Given the description of an element on the screen output the (x, y) to click on. 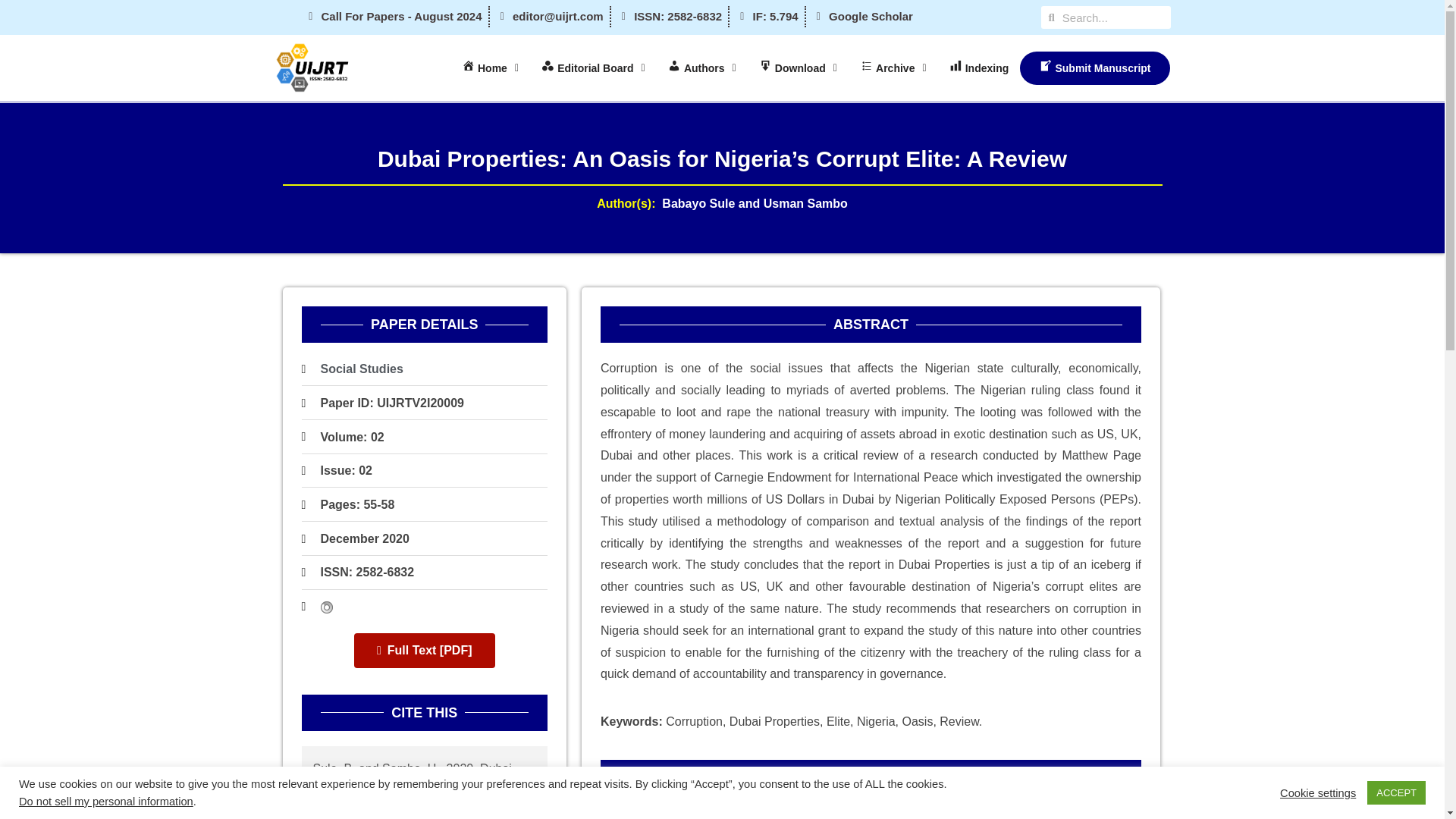
Download (798, 68)
Publication Date (364, 538)
ISSN: 2582-6832 (357, 572)
Archive (892, 68)
Authors (702, 68)
Call For Papers - August 2024 (392, 16)
Editorial Board (592, 68)
Social Studies (361, 368)
Submit Manuscript (1094, 68)
ISSN: 2582-6832 (366, 572)
